Given the description of an element on the screen output the (x, y) to click on. 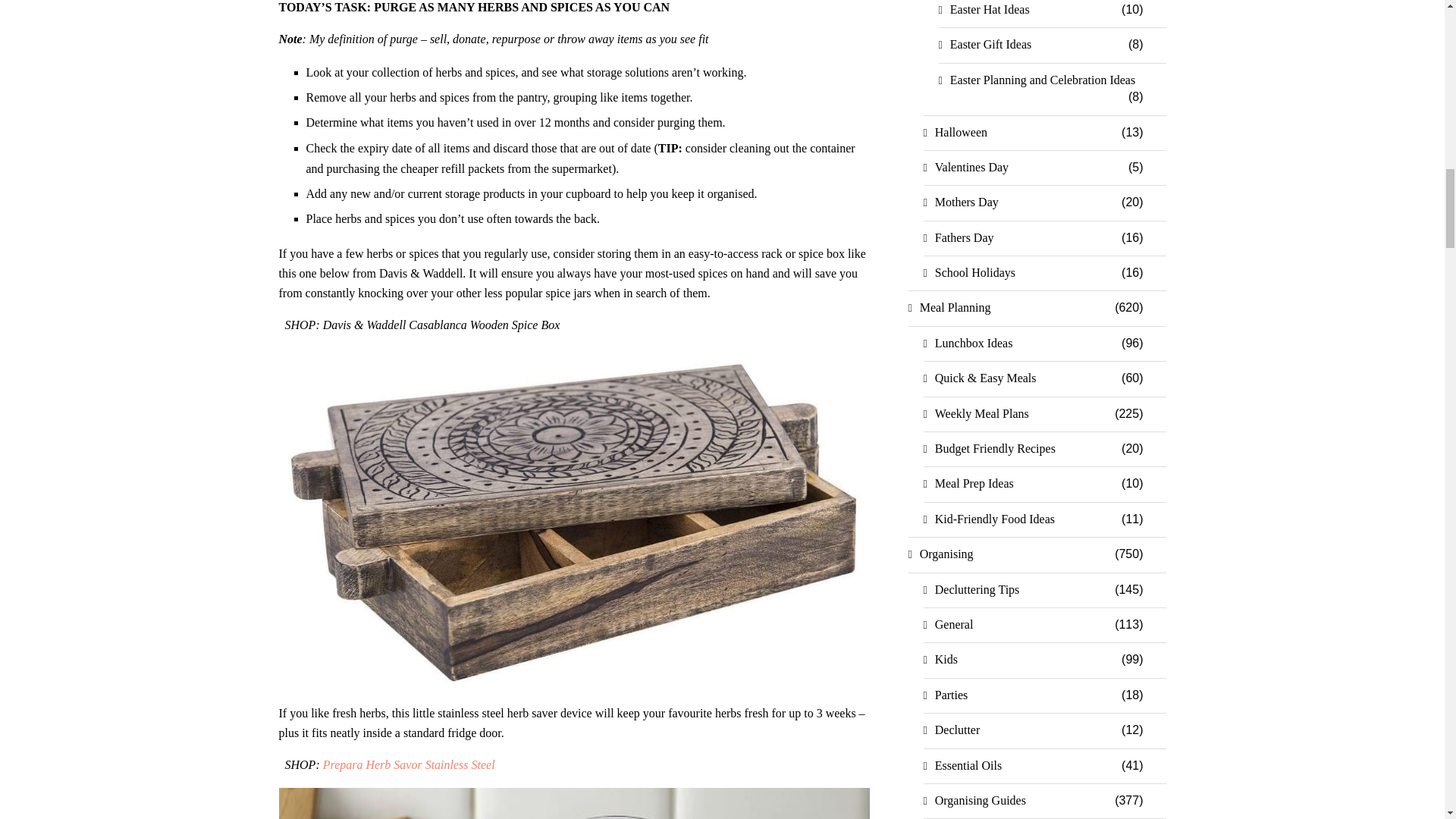
Keep fresh herbs longer with stainless steel herb savor (574, 803)
